Given the description of an element on the screen output the (x, y) to click on. 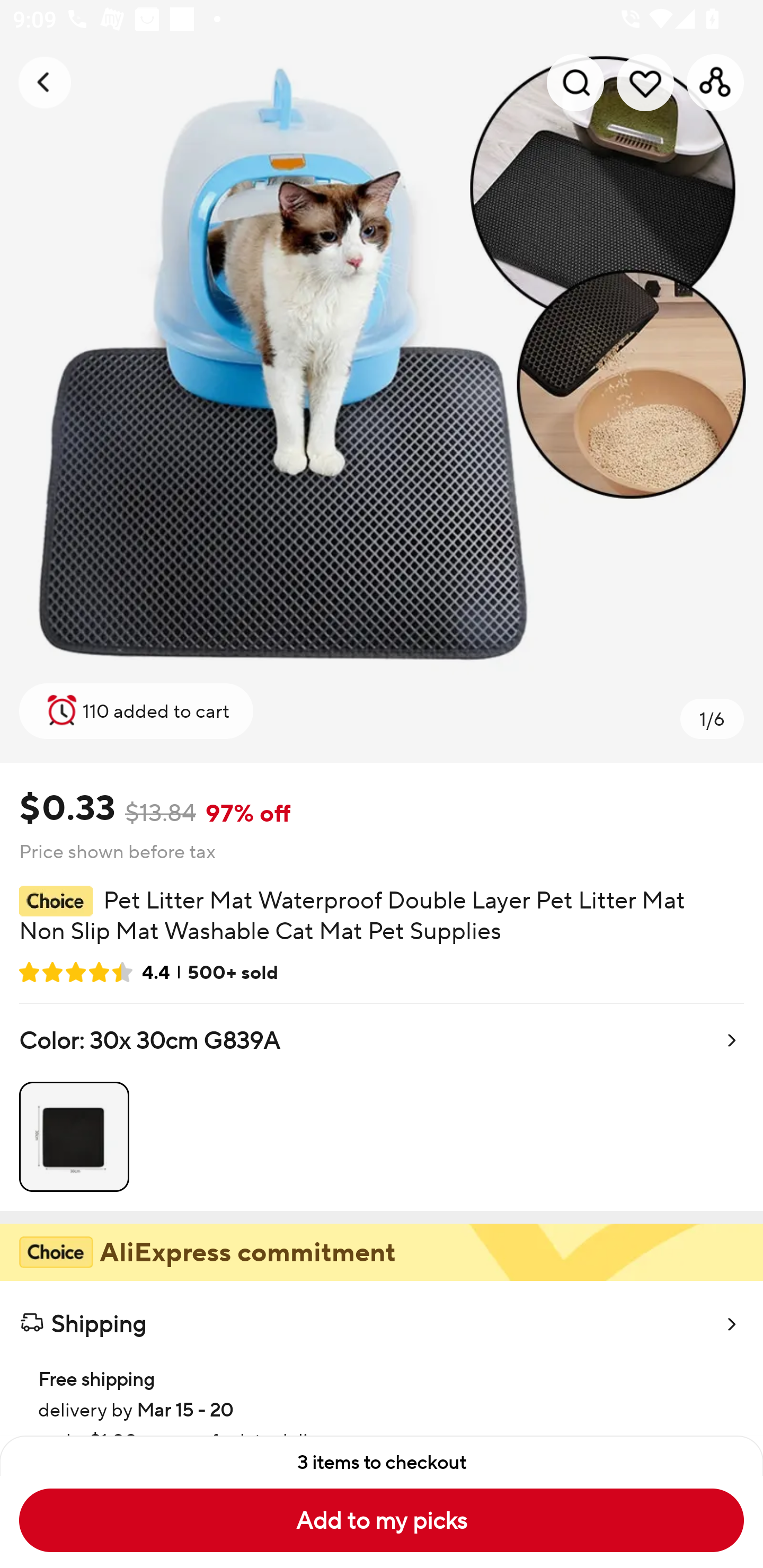
Navigate up (44, 82)
Color: 30x 30cm G839A  (381, 1106)
Add to my picks (381, 1520)
